Given the description of an element on the screen output the (x, y) to click on. 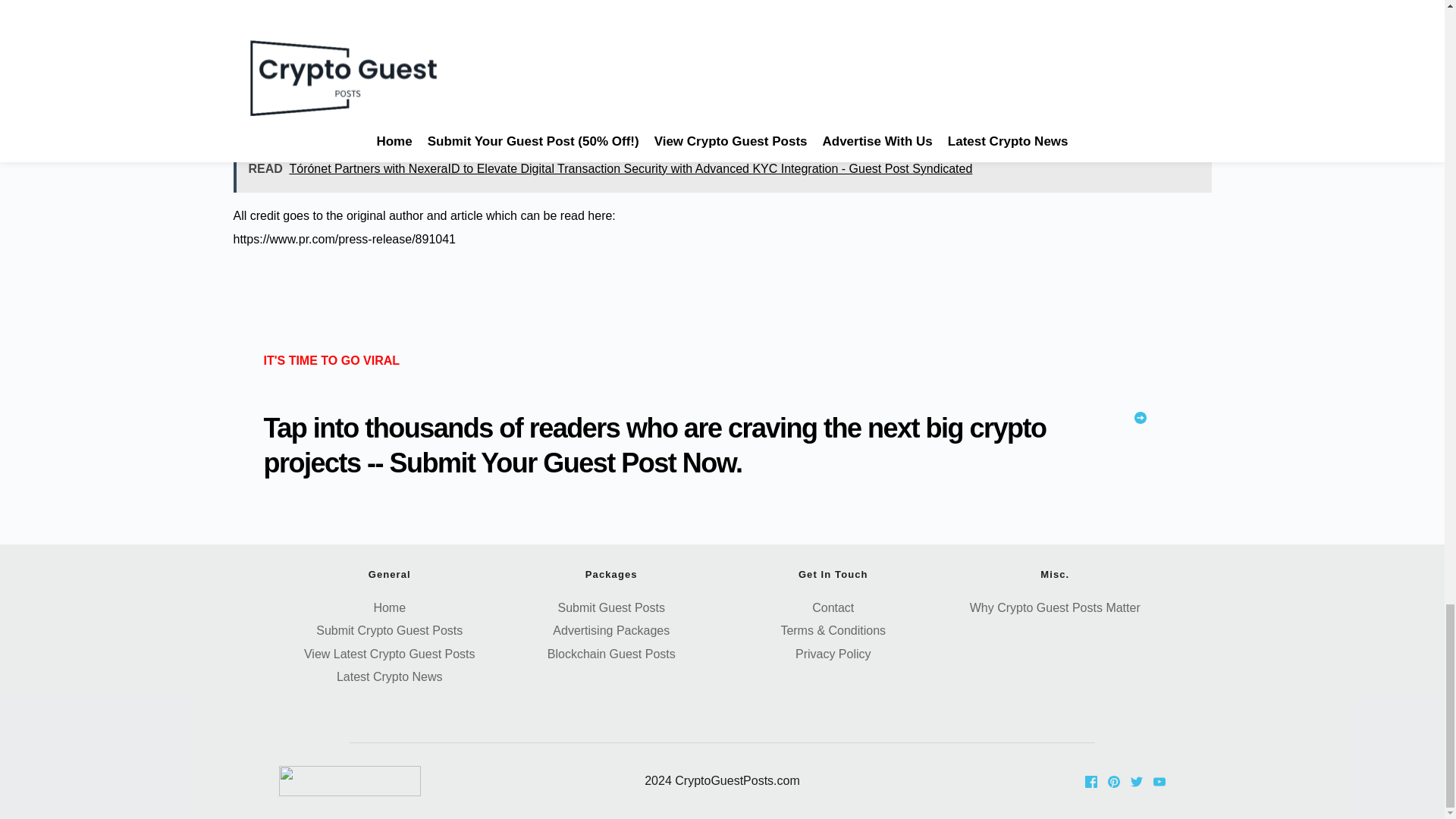
Submit Crypto Guest Posts (389, 630)
Why Crypto Guest Posts Matter (1054, 607)
Submit Guest Posts (611, 607)
Blockchain Guest Posts (611, 653)
Home (389, 607)
Contact (832, 607)
Privacy Policy (832, 653)
Latest Crypto News (389, 676)
View Latest Crypto Guest Posts (390, 653)
Advertising Packages (611, 630)
